Given the description of an element on the screen output the (x, y) to click on. 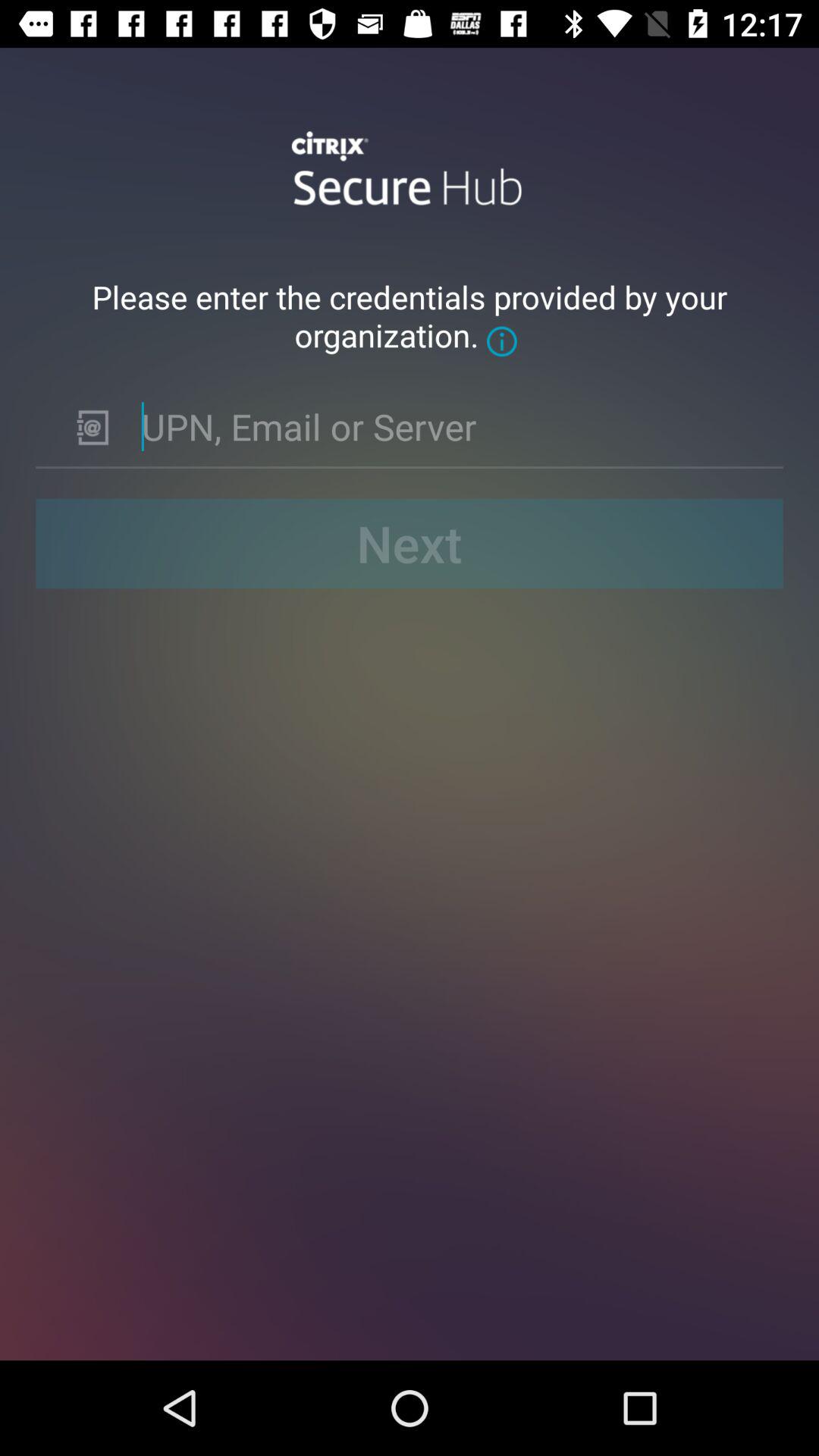
login info (450, 426)
